Given the description of an element on the screen output the (x, y) to click on. 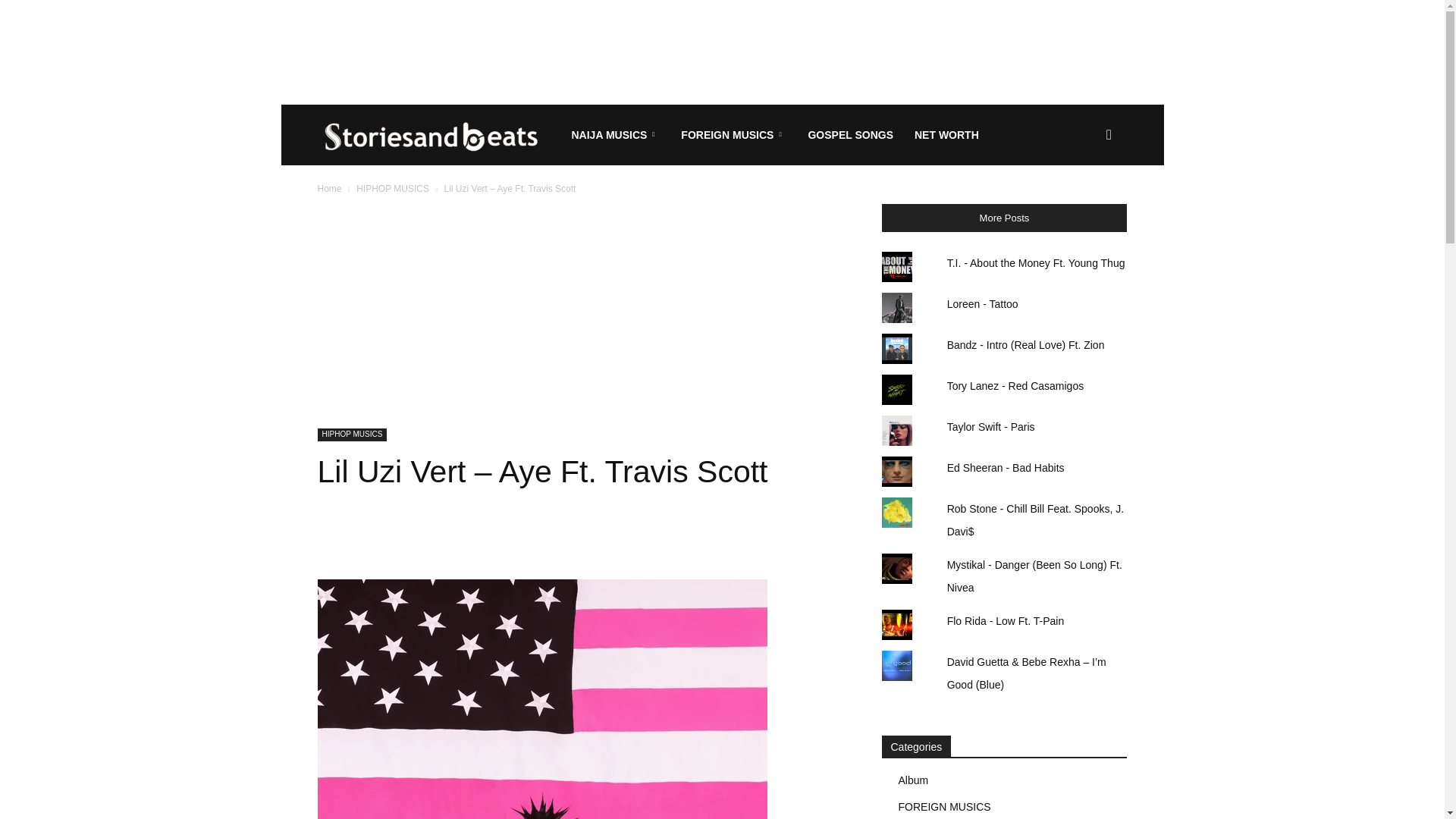
Home (328, 188)
HIPHOP MUSICS (392, 188)
Search (1085, 207)
NET WORTH (947, 134)
Advertisement (580, 315)
View all posts in HIPHOP MUSICS (392, 188)
Storiesandbeats (438, 134)
FOREIGN MUSICS (732, 134)
Advertisement (721, 52)
NAIJA MUSICS (615, 134)
